Given the description of an element on the screen output the (x, y) to click on. 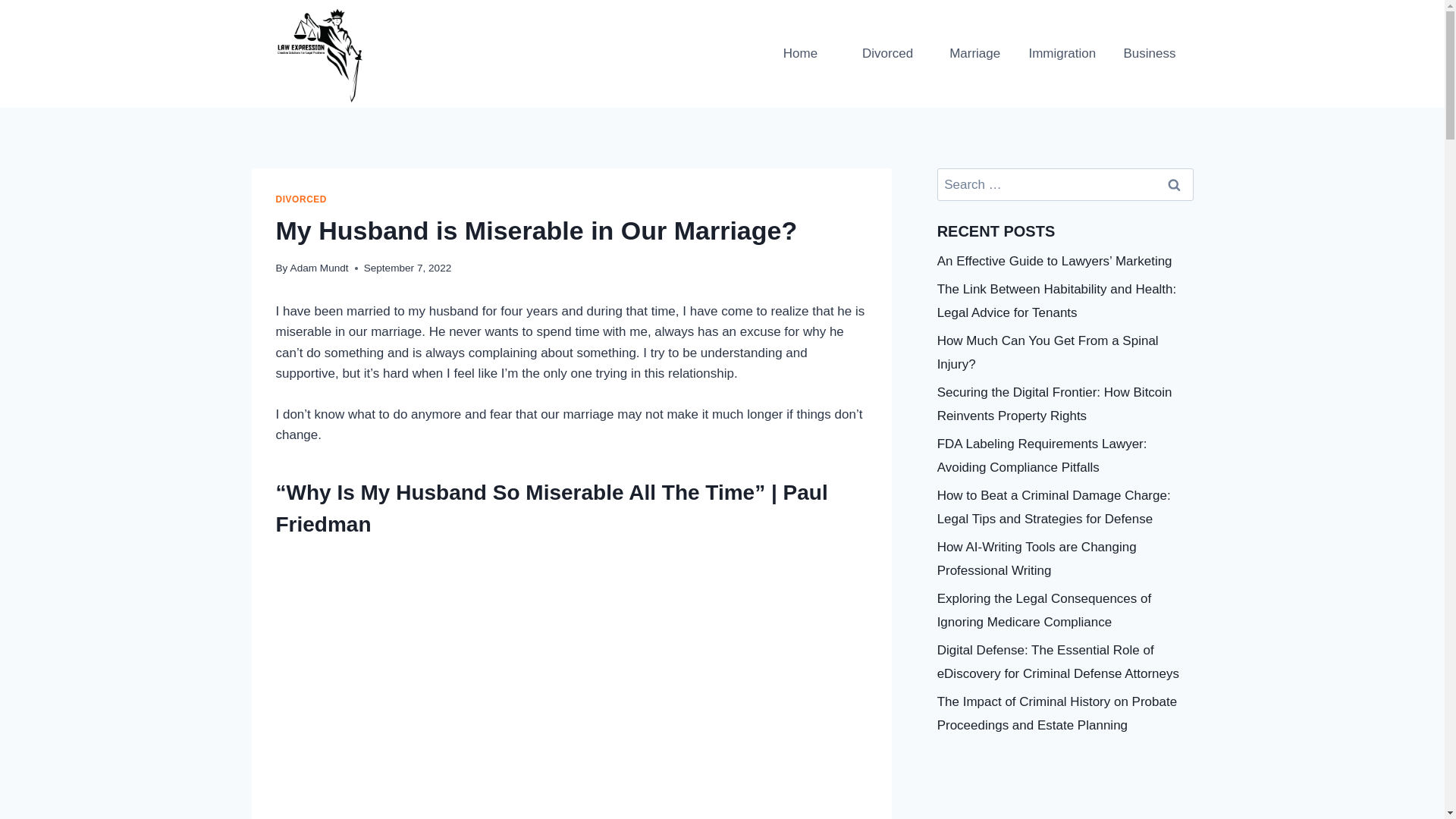
Immigration (1061, 54)
Marriage (974, 54)
DIVORCED (301, 199)
Divorced (887, 54)
Search (1174, 184)
Search (1174, 184)
Business (1148, 54)
Adam Mundt (319, 267)
Home (800, 54)
